Given the description of an element on the screen output the (x, y) to click on. 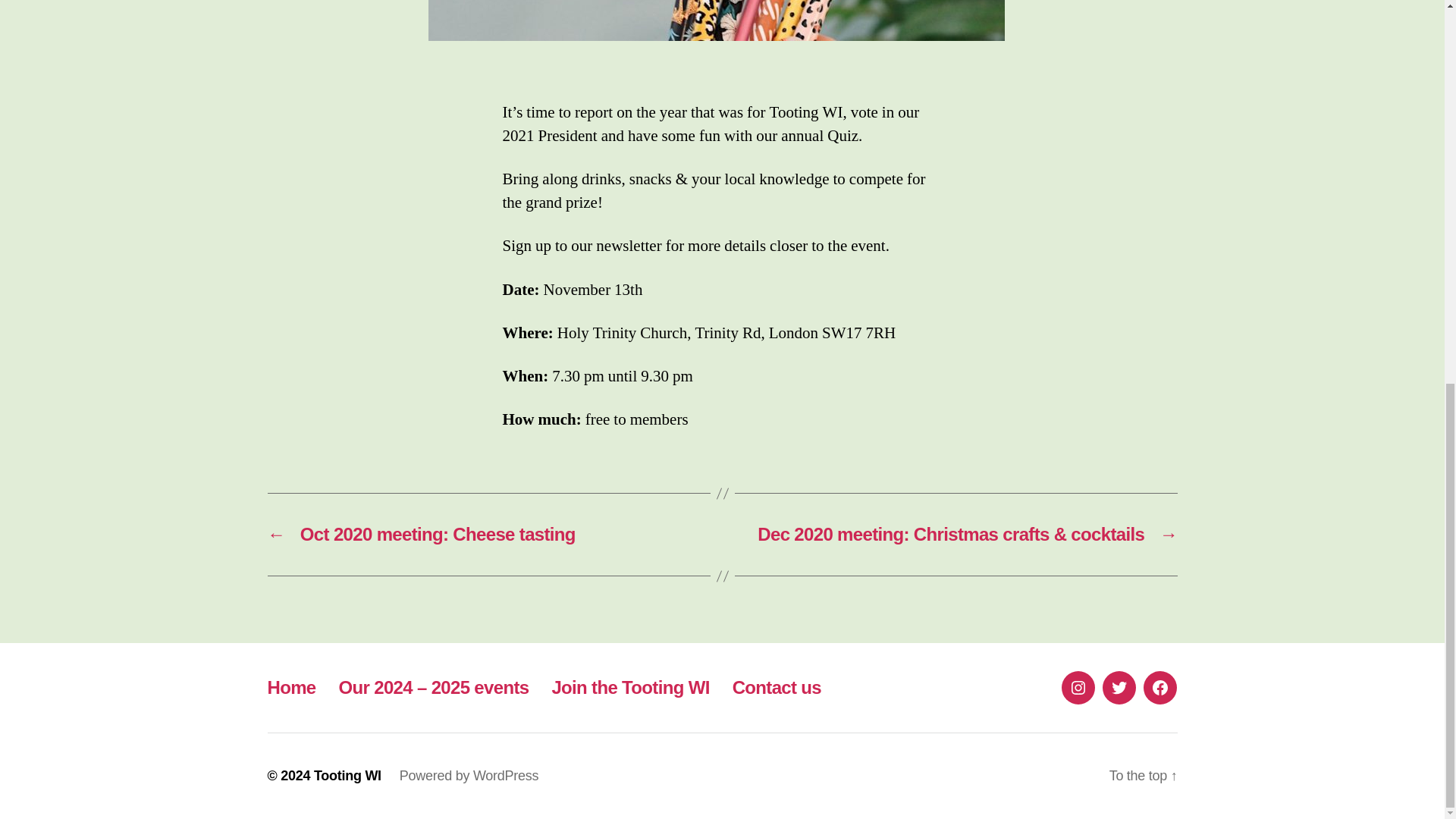
Join the Tooting WI (630, 687)
Instagram (1077, 687)
Contact us (776, 687)
Twitter (1118, 687)
Home (290, 687)
Facebook (1159, 687)
